Given the description of an element on the screen output the (x, y) to click on. 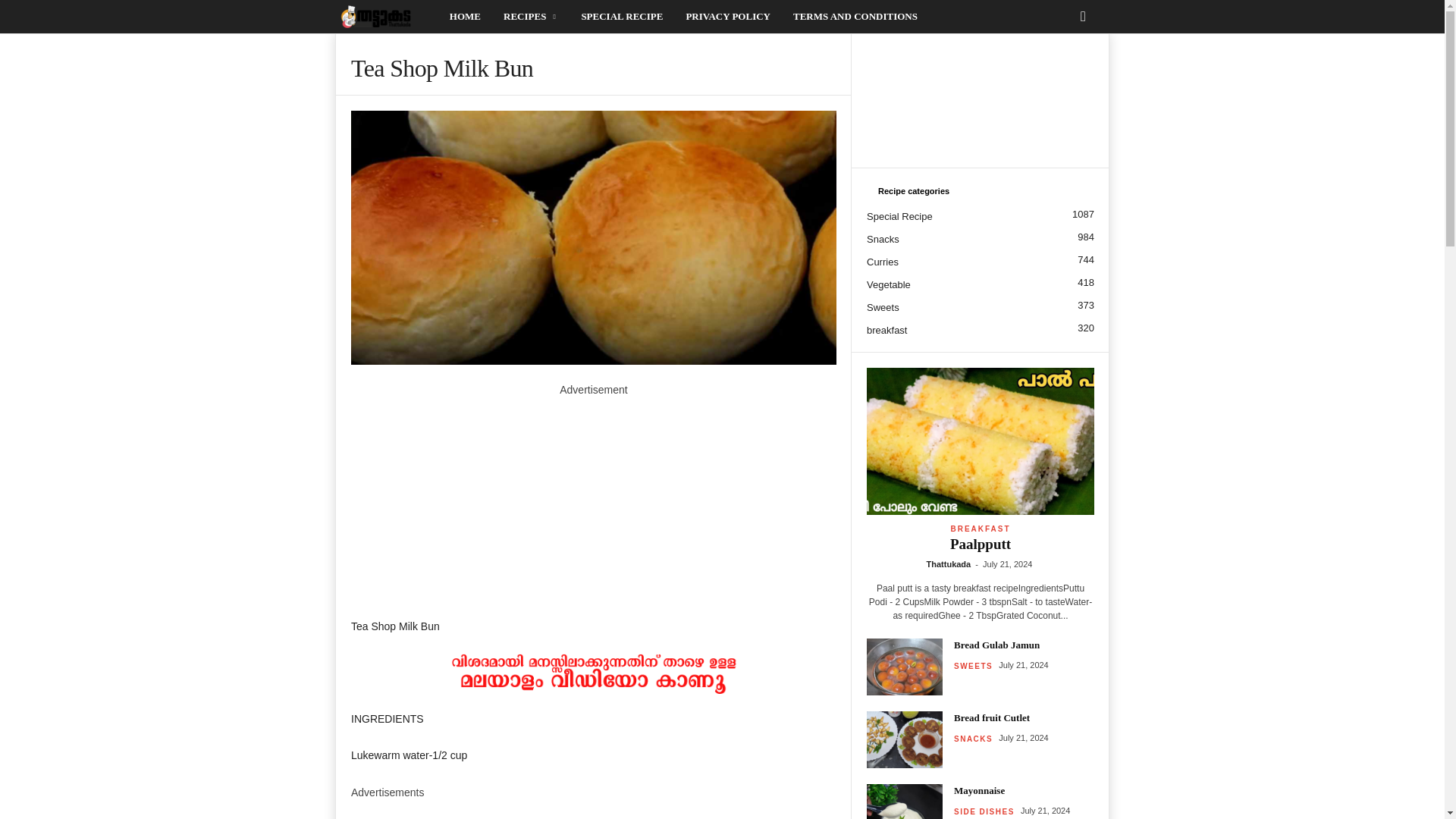
Advertisement (592, 504)
Thattukada (386, 16)
Advertisement (592, 810)
milk bun (592, 237)
RECIPES (530, 16)
HOME (465, 16)
